Given the description of an element on the screen output the (x, y) to click on. 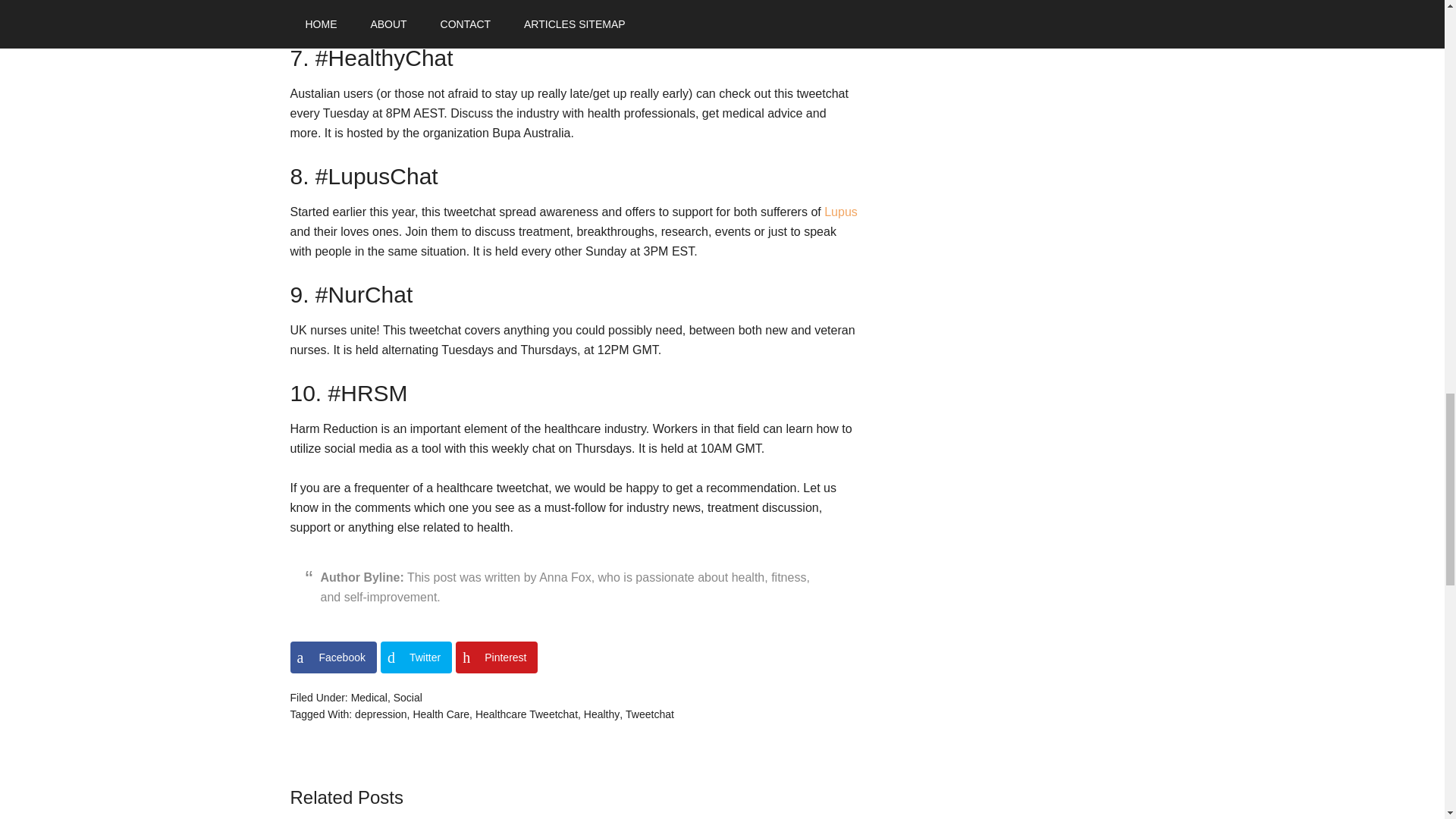
Twitter (415, 657)
Healthy (601, 714)
Medical (368, 697)
Share on Facebook (332, 657)
Share on Pinterest (496, 657)
Pinterest (496, 657)
Healthcare Tweetchat (527, 714)
Tweetchat (650, 714)
Social (407, 697)
depression (381, 714)
